Given the description of an element on the screen output the (x, y) to click on. 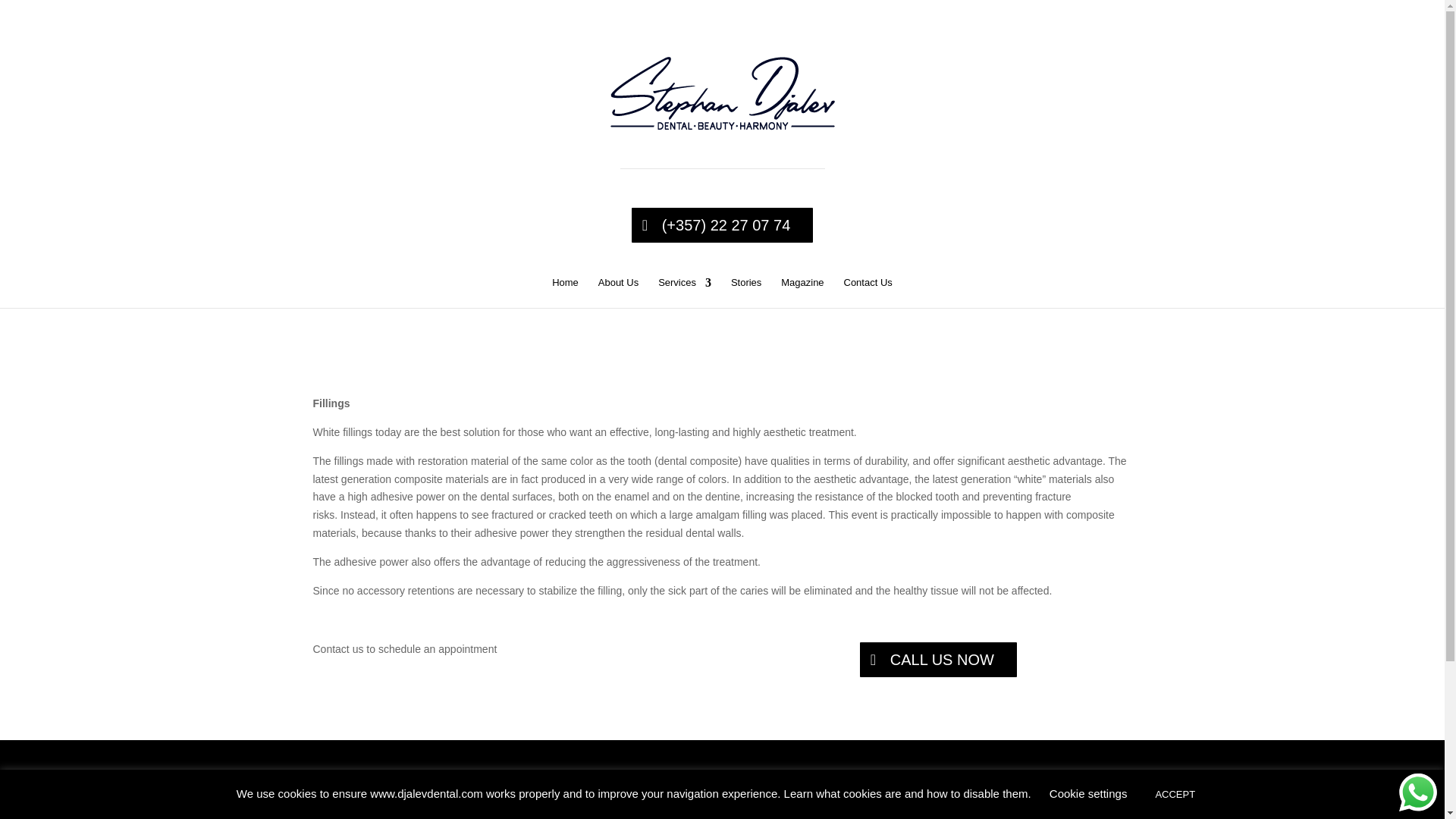
Contact Us (867, 292)
Services (684, 292)
WhatsApp us (1418, 792)
About Us (618, 292)
Magazine (802, 292)
Stories (745, 292)
logo (721, 92)
